Given the description of an element on the screen output the (x, y) to click on. 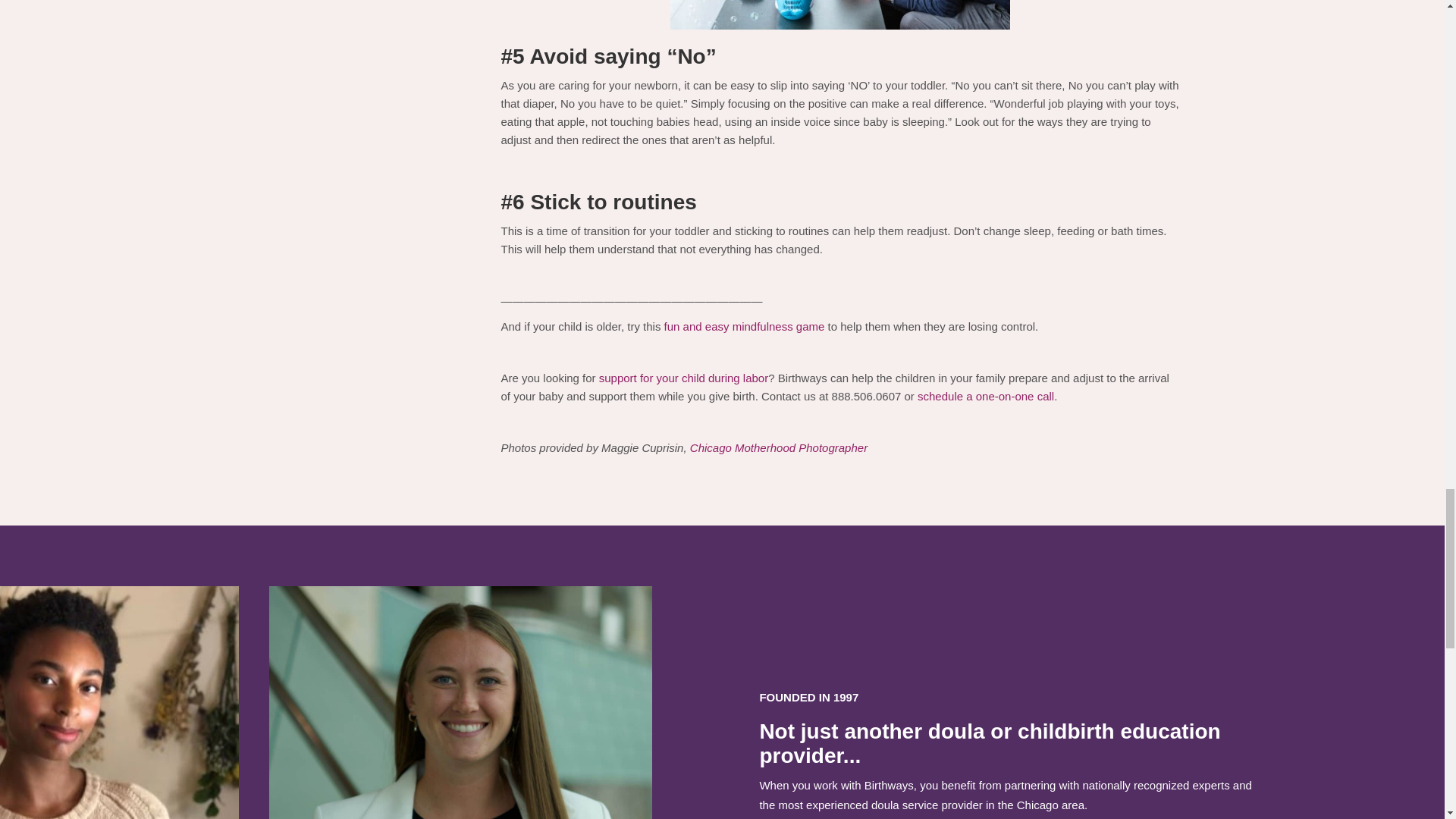
fun and easy mindfulness game (744, 326)
Chicago Motherhood Photographer  (780, 447)
schedule a one-on-one call (985, 395)
support for your child during labor (683, 377)
Akiwele Burayidi (119, 775)
Alexis McCullough (460, 775)
